Given the description of an element on the screen output the (x, y) to click on. 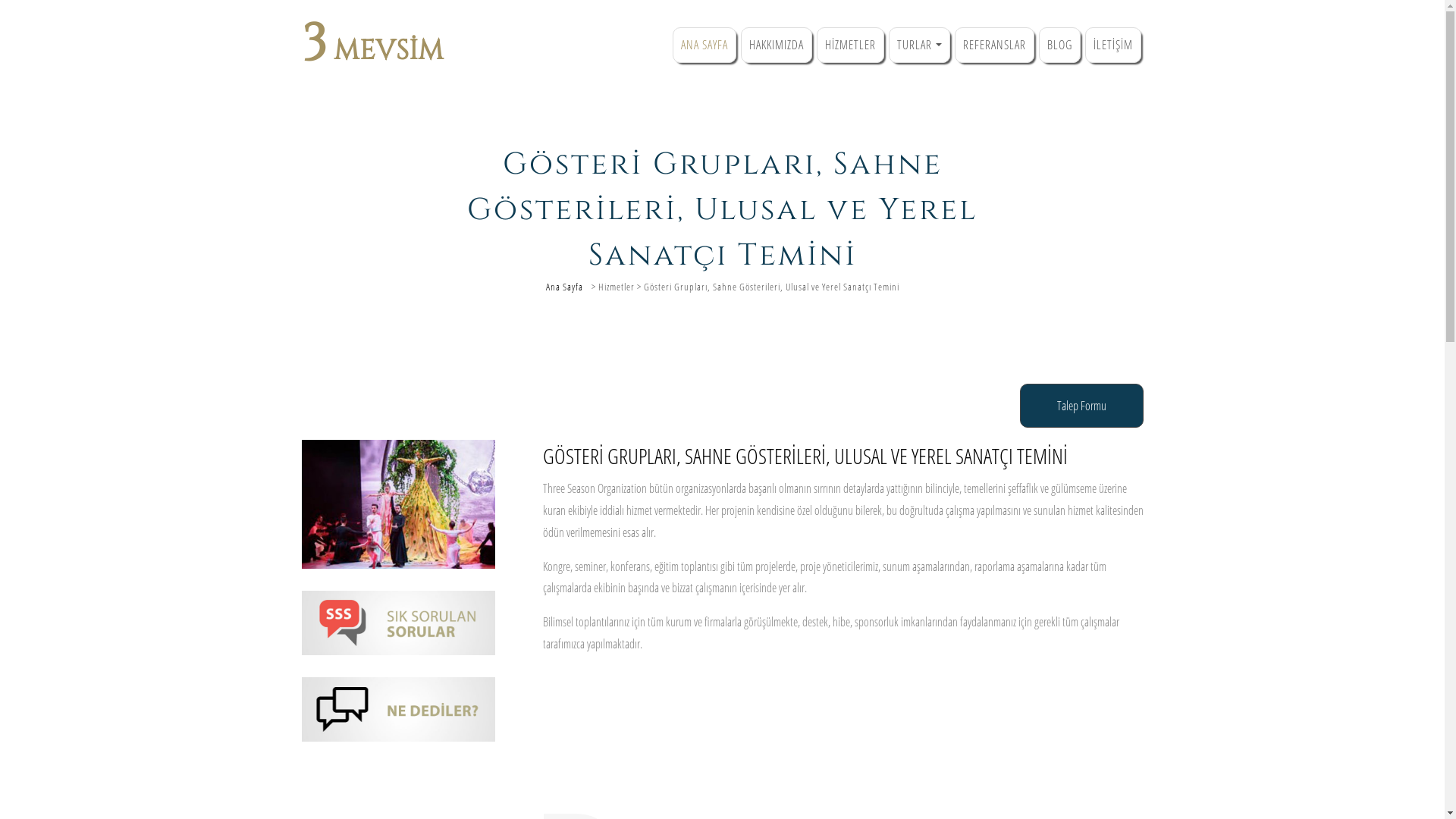
ANA SAYFA Element type: text (704, 44)
BLOG Element type: text (1059, 44)
Ana Sayfa Element type: text (564, 286)
TURLAR Element type: text (918, 44)
REFERANSLAR Element type: text (993, 44)
Talep Formu Element type: text (1080, 405)
HAKKIMIZDA Element type: text (776, 44)
